Given the description of an element on the screen output the (x, y) to click on. 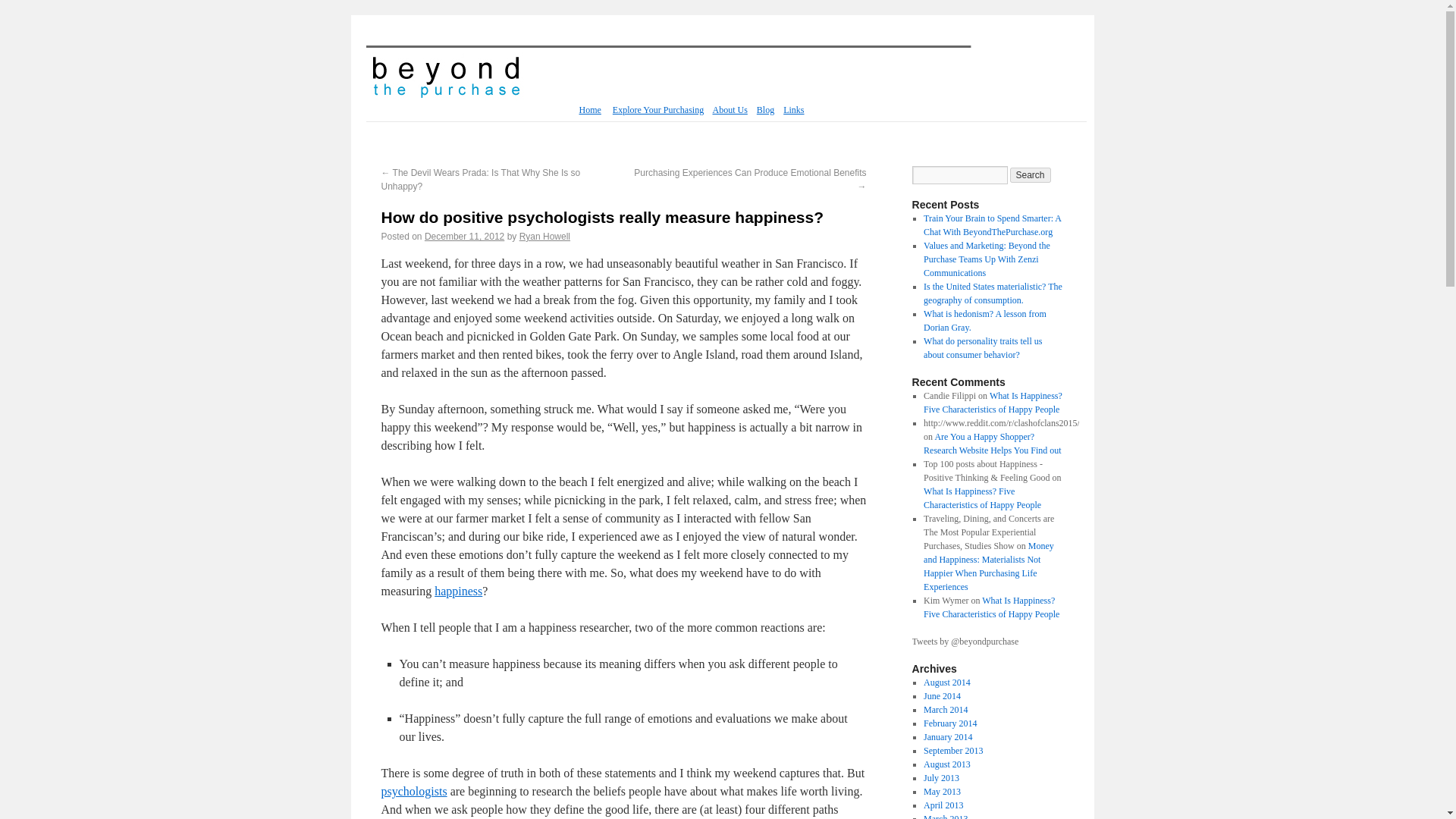
happiness (457, 590)
Home (590, 109)
psychologists (413, 790)
happiness (457, 590)
Search (1030, 174)
View all posts by Ryan Howell (544, 235)
psychologists (413, 790)
Blog (765, 109)
Links (793, 109)
Ryan Howell (544, 235)
7:06 pm (464, 235)
About Us (730, 109)
Explore Your Purchasing (657, 109)
